Given the description of an element on the screen output the (x, y) to click on. 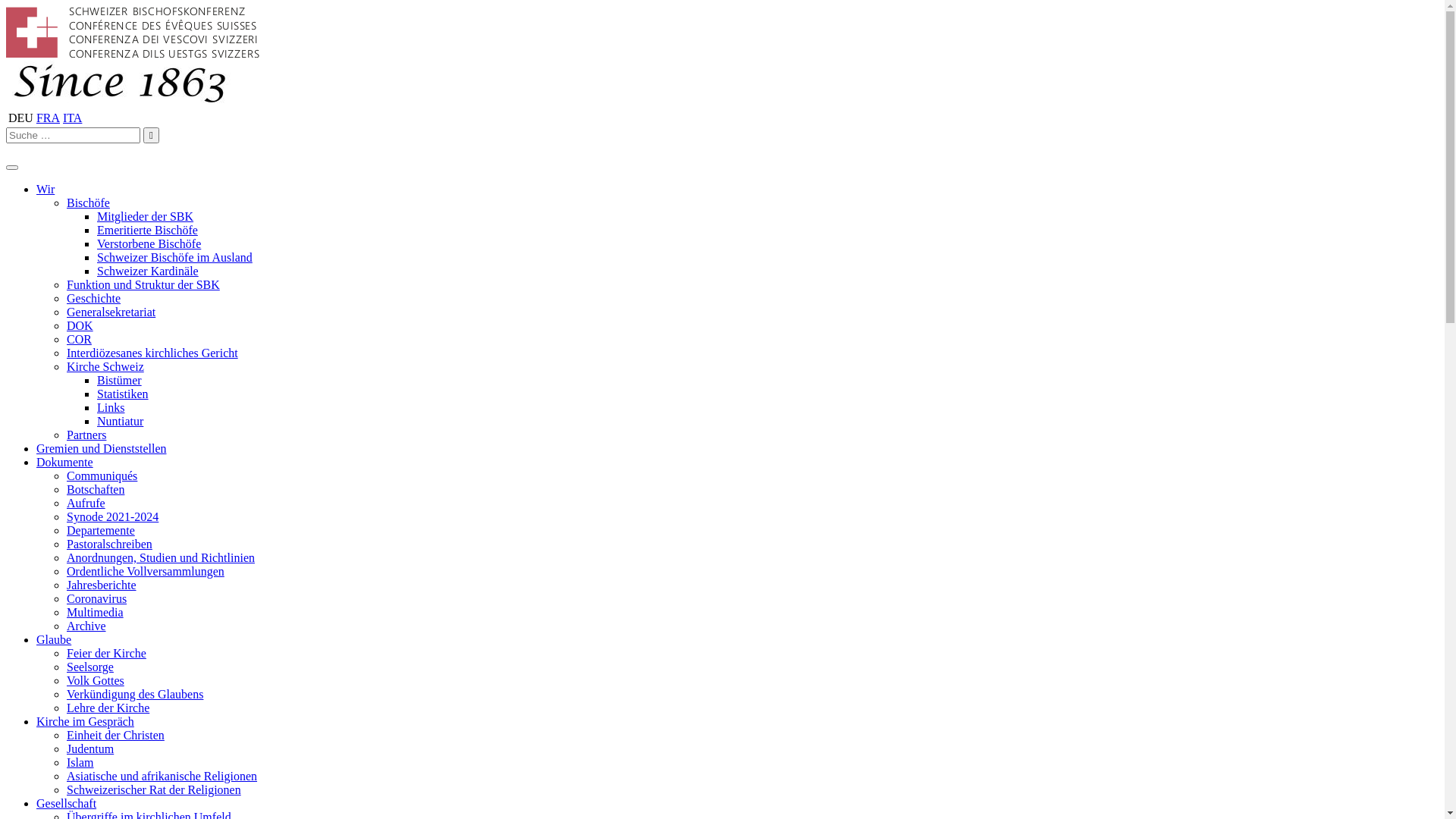
Nuntiatur Element type: text (120, 420)
FRA Element type: text (47, 117)
Pastoralschreiben Element type: text (109, 543)
Statistiken Element type: text (122, 393)
Partners Element type: text (86, 434)
COR Element type: text (78, 338)
Geschichte Element type: text (93, 297)
Kirche Schweiz Element type: text (105, 366)
Zum Inhalt springen Element type: text (5, 5)
Islam Element type: text (80, 762)
Mitglieder der SBK Element type: text (145, 216)
Aufrufe Element type: text (85, 502)
Coronavirus Element type: text (96, 598)
Judentum Element type: text (89, 748)
Funktion und Struktur der SBK Element type: text (142, 284)
Multimedia Element type: text (94, 611)
Seelsorge Element type: text (89, 666)
Suchen nach: Element type: hover (73, 135)
Lehre der Kirche Element type: text (107, 707)
Links Element type: text (110, 407)
DOK Element type: text (79, 325)
Wir Element type: text (45, 188)
Gremien und Dienststellen Element type: text (101, 448)
Einheit der Christen Element type: text (115, 734)
Departemente Element type: text (100, 530)
Generalsekretariat Element type: text (110, 311)
Anordnungen, Studien und Richtlinien Element type: text (160, 557)
Gesellschaft Element type: text (66, 803)
Botschaften Element type: text (95, 489)
Ordentliche Vollversammlungen Element type: text (145, 570)
Schweizerischer Rat der Religionen Element type: text (153, 789)
Synode 2021-2024 Element type: text (112, 516)
Archive Element type: text (86, 625)
Volk Gottes Element type: text (95, 680)
Feier der Kirche Element type: text (106, 652)
Dokumente Element type: text (64, 461)
Jahresberichte Element type: text (101, 584)
Glaube Element type: text (53, 639)
Asiatische und afrikanische Religionen Element type: text (161, 775)
DEU Element type: text (20, 117)
ITA Element type: text (71, 117)
